Given the description of an element on the screen output the (x, y) to click on. 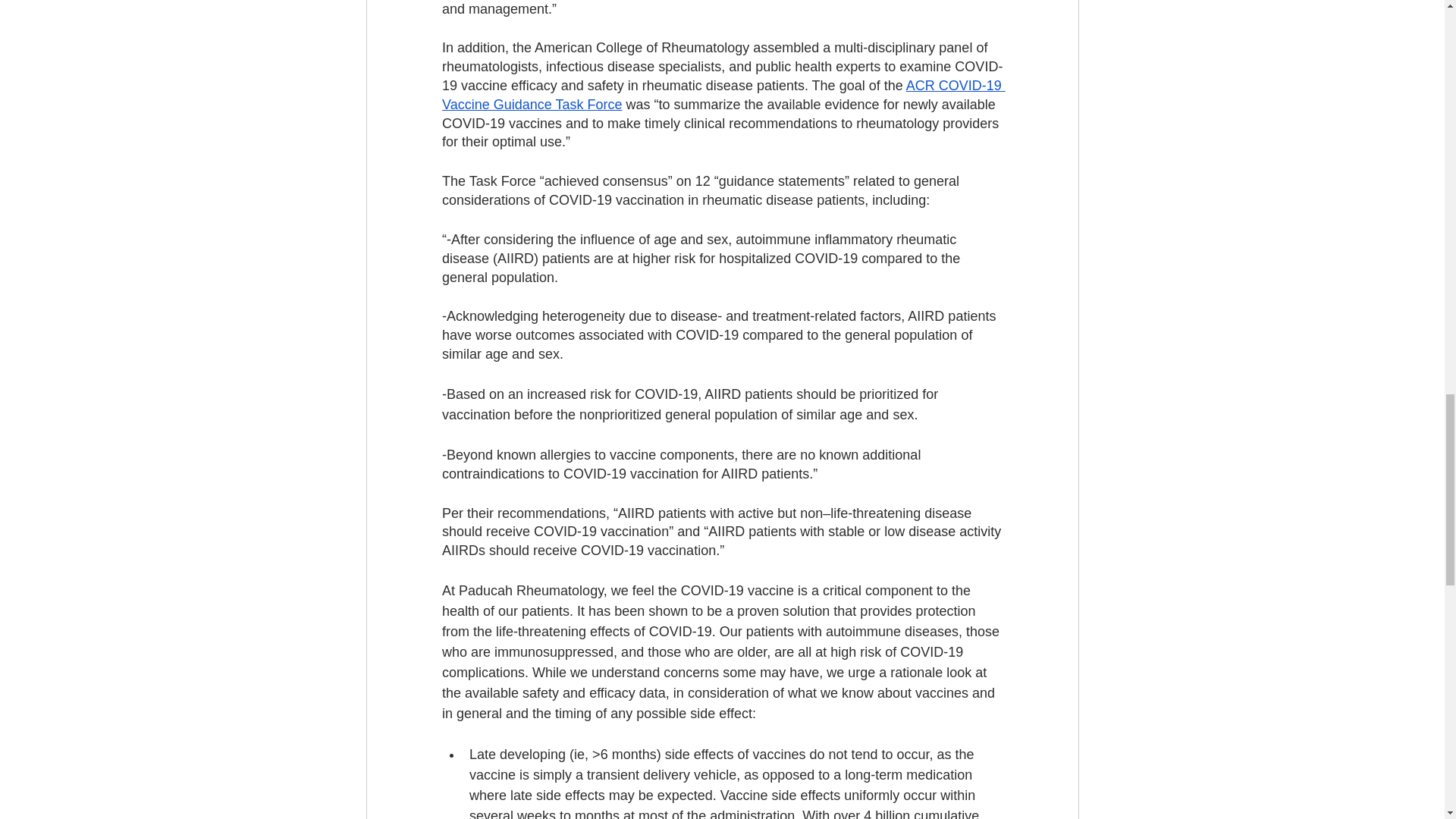
ACR COVID-19 Vaccine Guidance Task Force (722, 94)
